Given the description of an element on the screen output the (x, y) to click on. 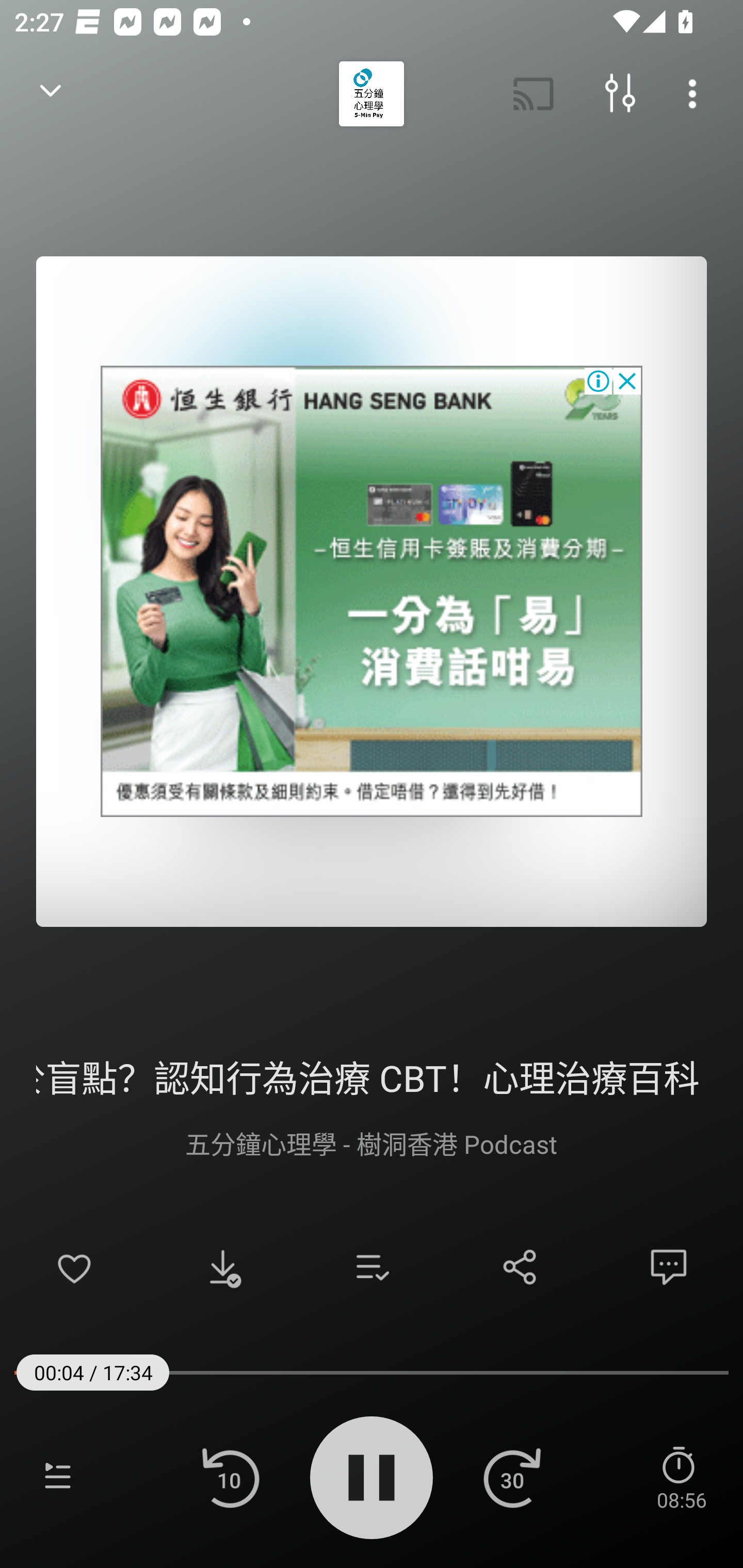
Cast. Disconnected (533, 93)
 Back (50, 94)
Advertisement (371, 590)
#PSY｜困擾源於盲點？認知行為治療 CBT！心理治療百科（一）｜#五分鐘心理學 (371, 1075)
五分鐘心理學 - 樹洞香港 Podcast (371, 1142)
Comments (668, 1266)
Add to Favorites (73, 1266)
Add to playlist (371, 1266)
Share (519, 1266)
Sleep Timer  08:56 (681, 1477)
 Playlist (57, 1477)
